Given the description of an element on the screen output the (x, y) to click on. 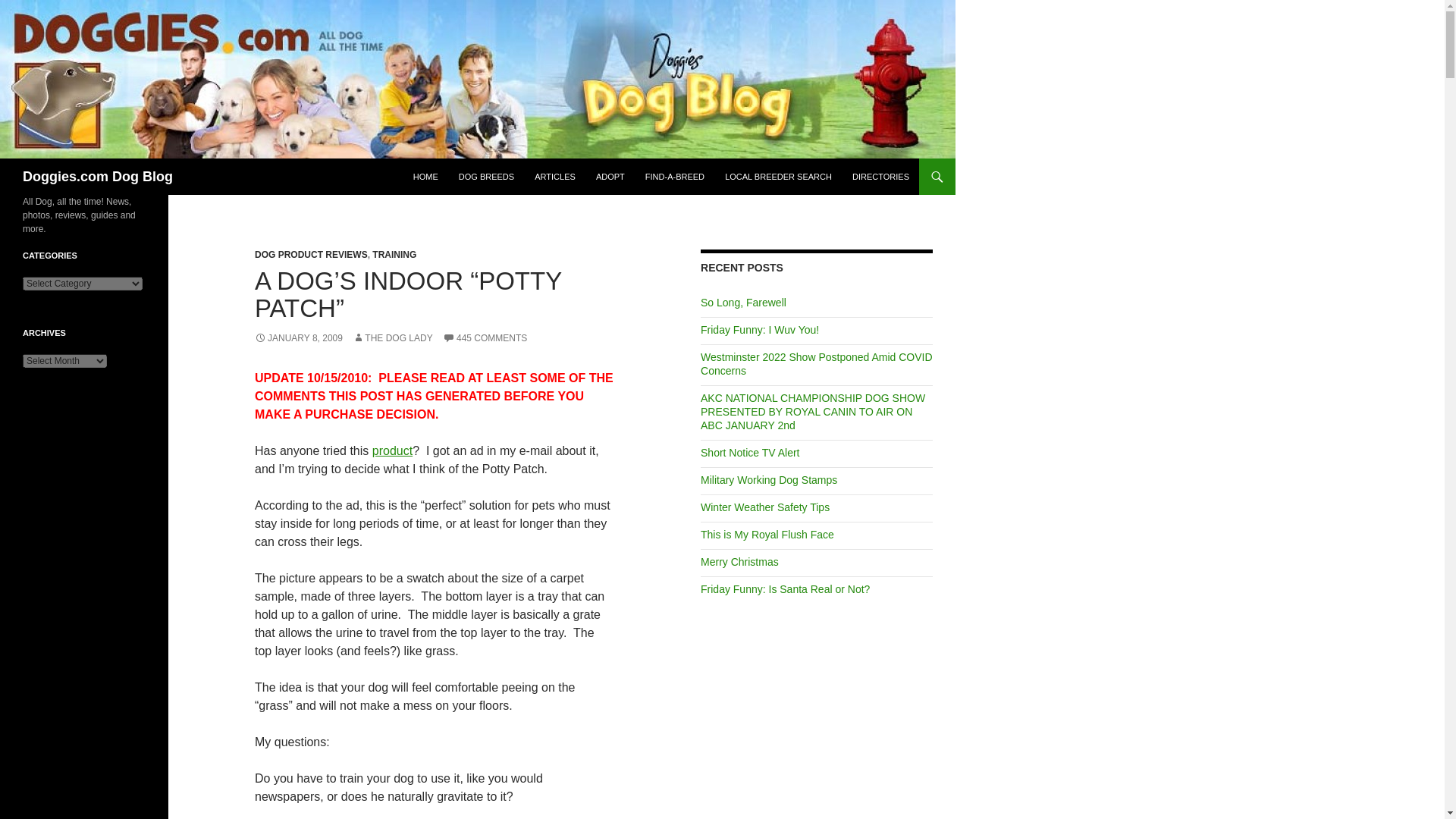
DIRECTORIES (880, 176)
LOCAL BREEDER SEARCH (778, 176)
Doggies.com Dog Blog (98, 176)
HOME (425, 176)
FIND-A-BREED (674, 176)
ARTICLES (555, 176)
TRAINING (394, 254)
DOG BREEDS (485, 176)
DOG PRODUCT REVIEWS (311, 254)
